Given the description of an element on the screen output the (x, y) to click on. 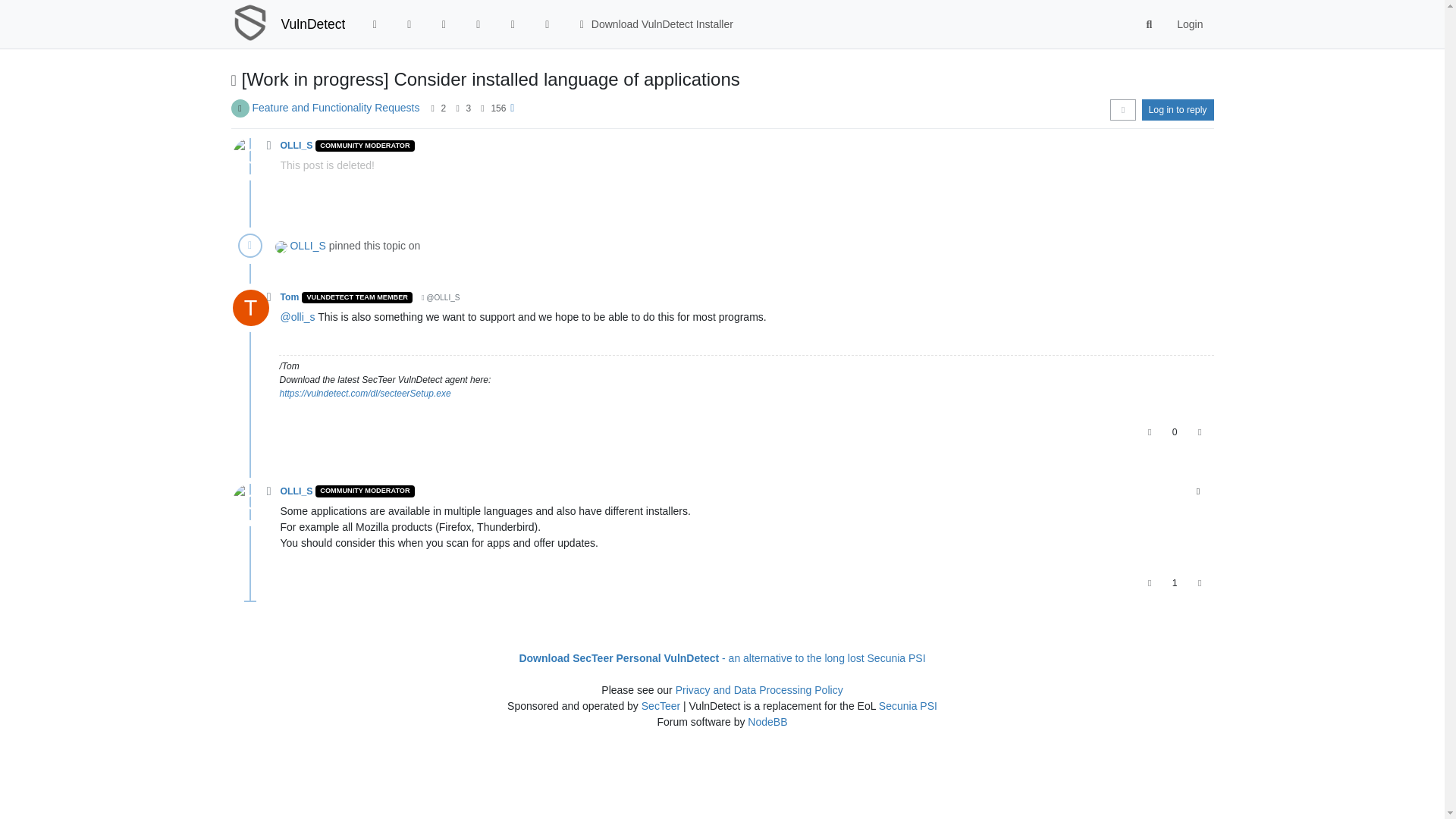
Feature and Functionality Requests (335, 107)
COMMUNITY MODERATOR (364, 146)
Log in to reply (1177, 109)
Posts (457, 108)
Tags (443, 24)
Popular (478, 24)
Users (512, 24)
VulnDetect (313, 24)
Login (1189, 24)
Views (482, 108)
